Given the description of an element on the screen output the (x, y) to click on. 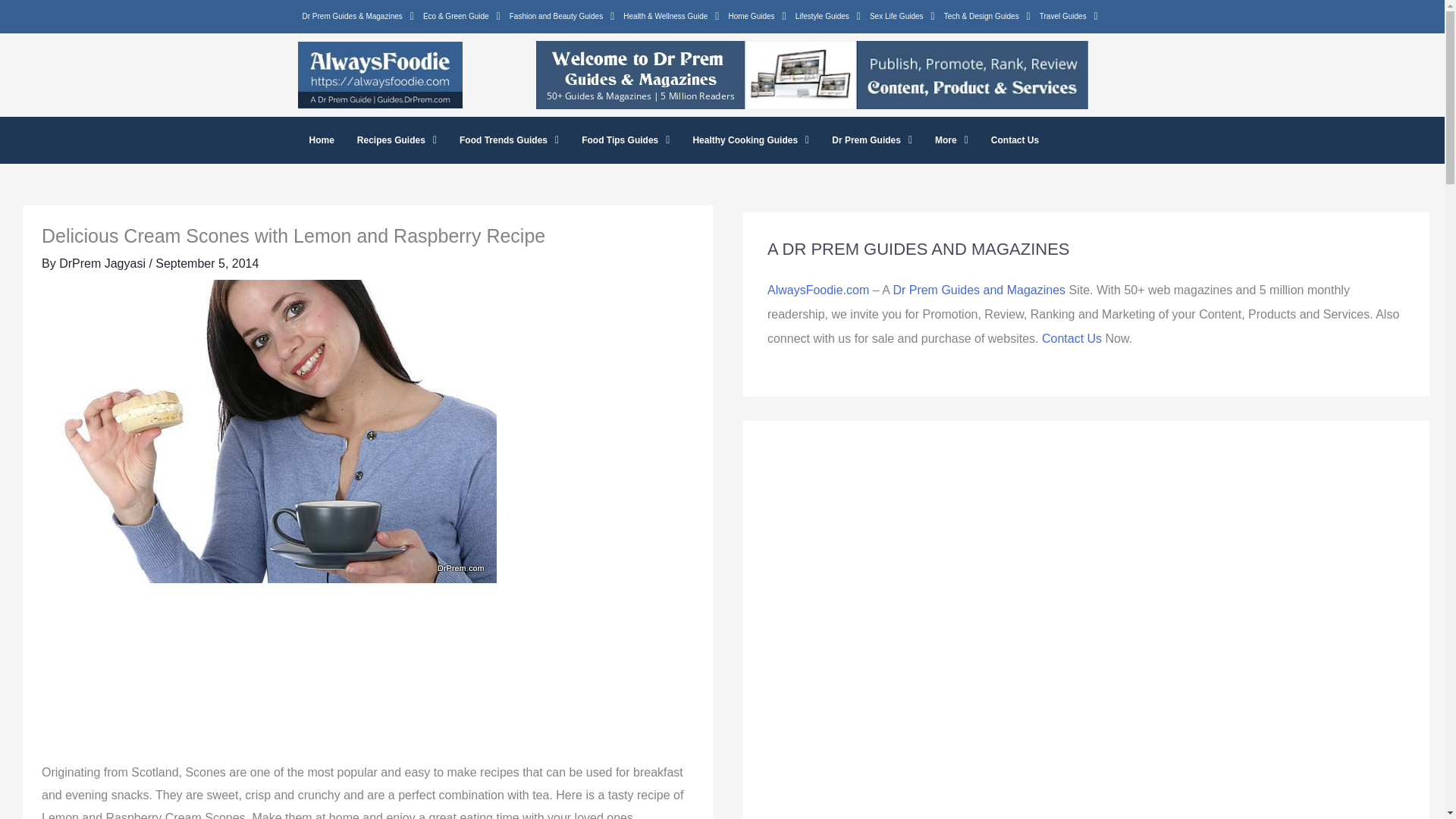
Home Guides (756, 16)
Advertisement (367, 680)
Fashion and Beauty Guides (562, 16)
Lifestyle Guides (827, 16)
View all posts by DrPrem Jagyasi (103, 263)
